Given the description of an element on the screen output the (x, y) to click on. 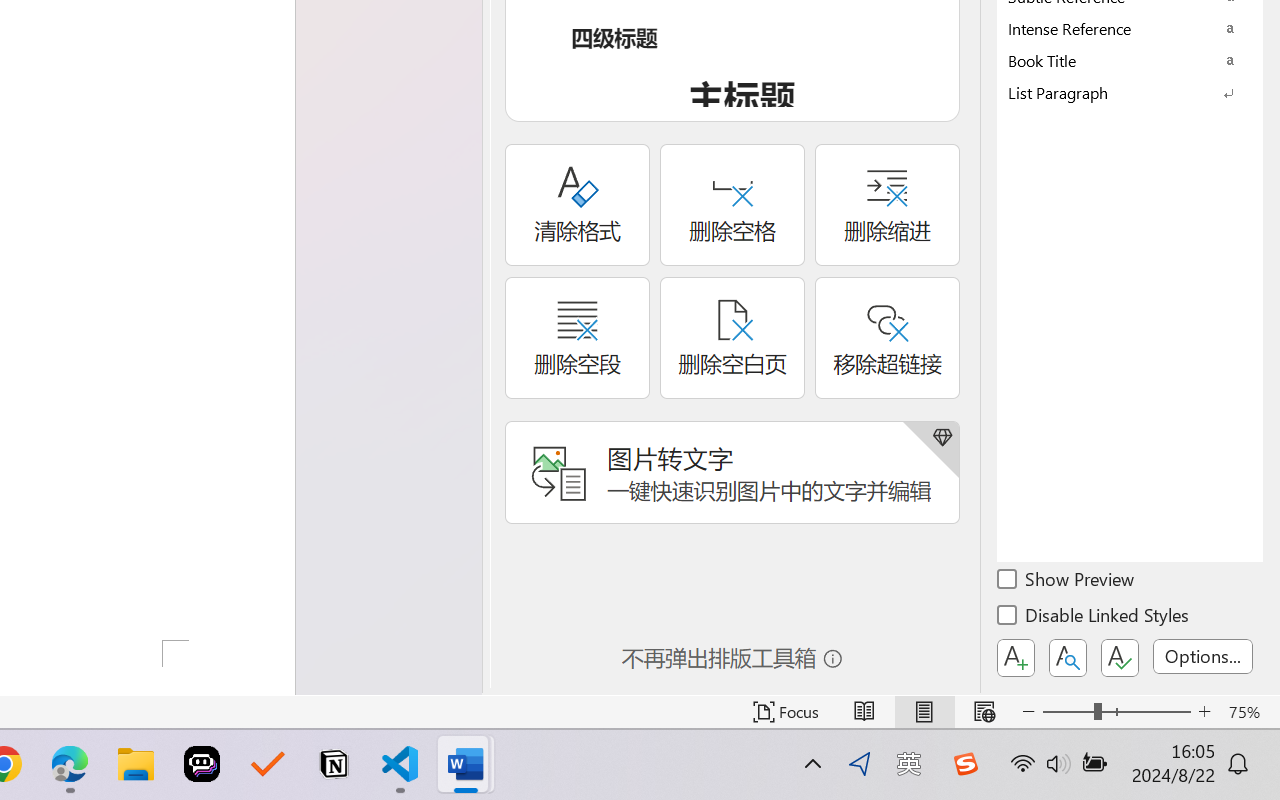
Show Preview (1067, 582)
Class: NetUIButton (1119, 657)
Read Mode (864, 712)
Intense Reference (1130, 28)
Book Title (1130, 60)
List Paragraph (1130, 92)
Class: Image (965, 764)
Web Layout (984, 712)
